Given the description of an element on the screen output the (x, y) to click on. 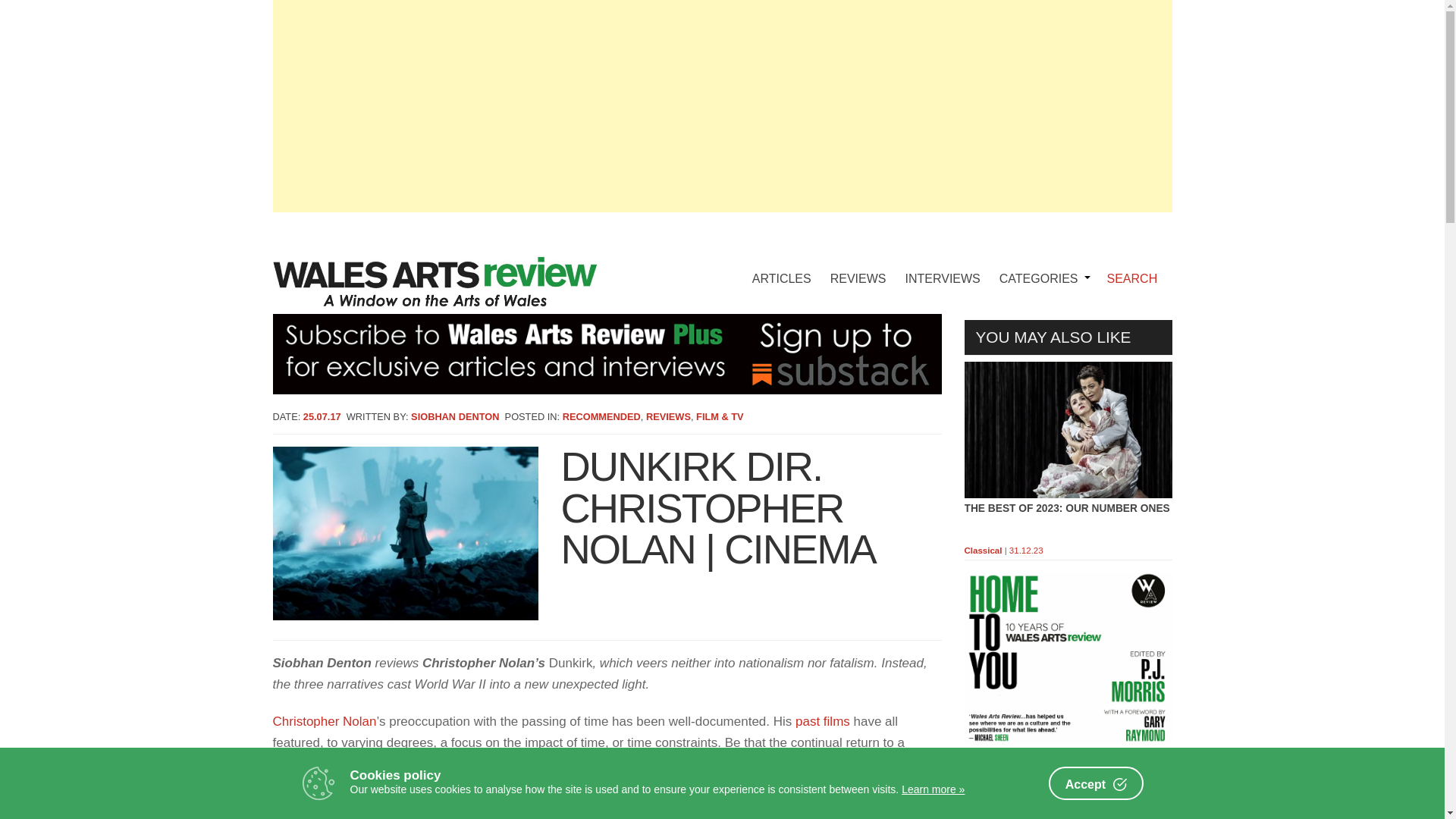
CATEGORIES (1042, 267)
Advertisement (1067, 789)
Search for: (1137, 278)
INTERVIEWS (943, 267)
25.07.17 (321, 416)
REVIEWS (858, 267)
ARTICLES (781, 267)
